Given the description of an element on the screen output the (x, y) to click on. 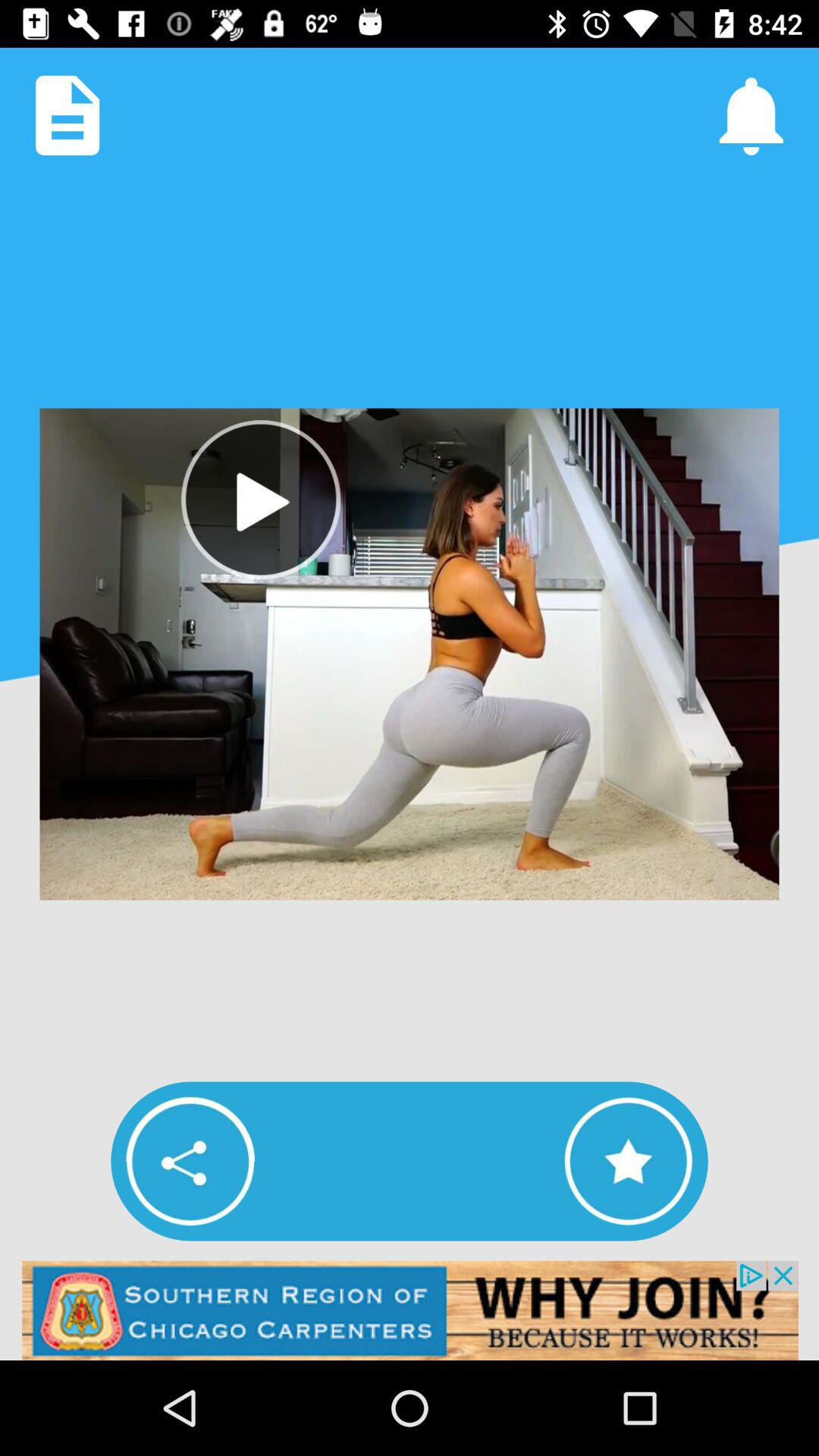
notification (751, 115)
